Given the description of an element on the screen output the (x, y) to click on. 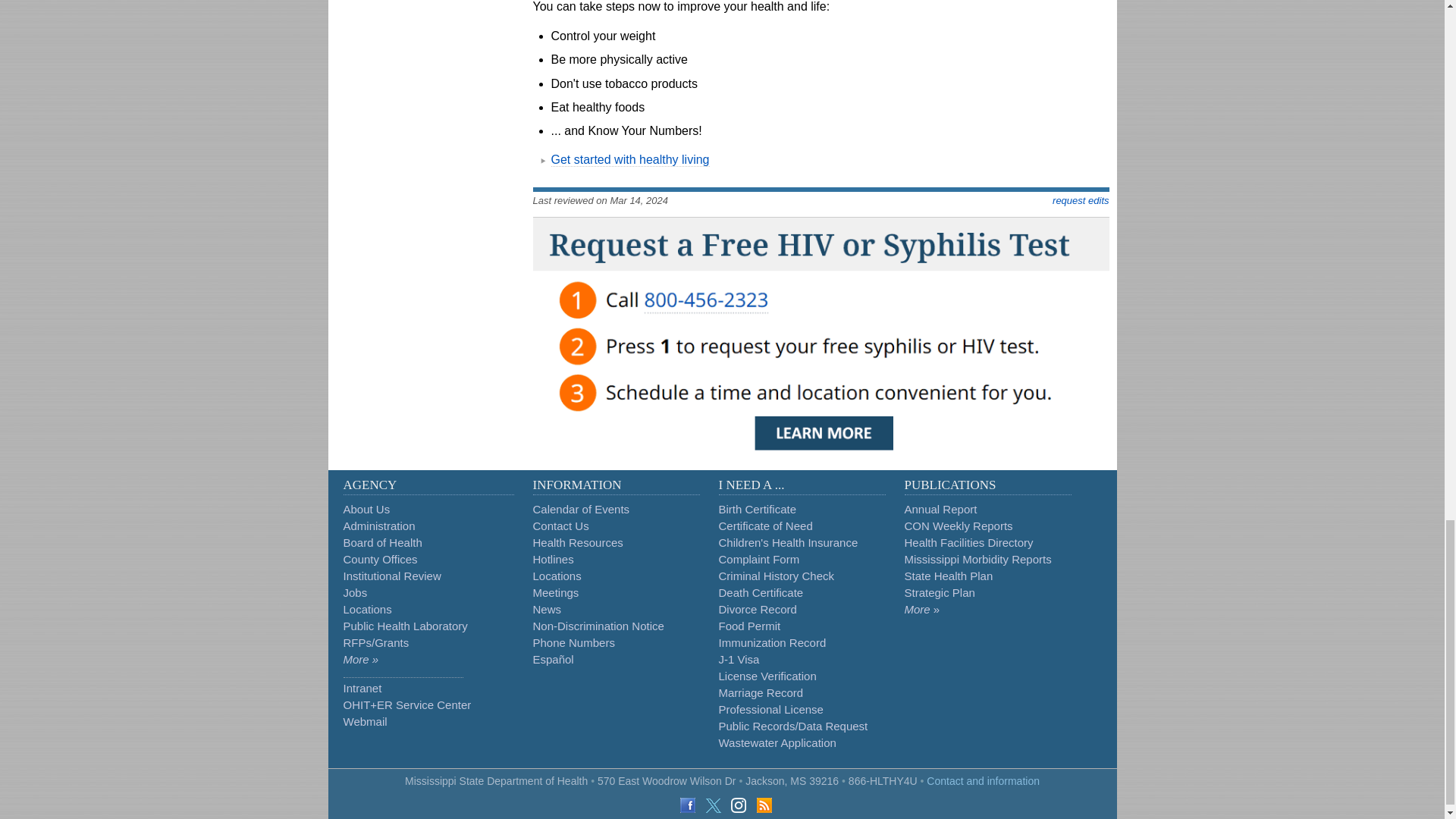
Get started with healthy living (629, 160)
Administration (378, 525)
Request an update or correction to this web page (1080, 200)
Board of Health (382, 542)
About Us (366, 508)
request edits (1080, 200)
